Given the description of an element on the screen output the (x, y) to click on. 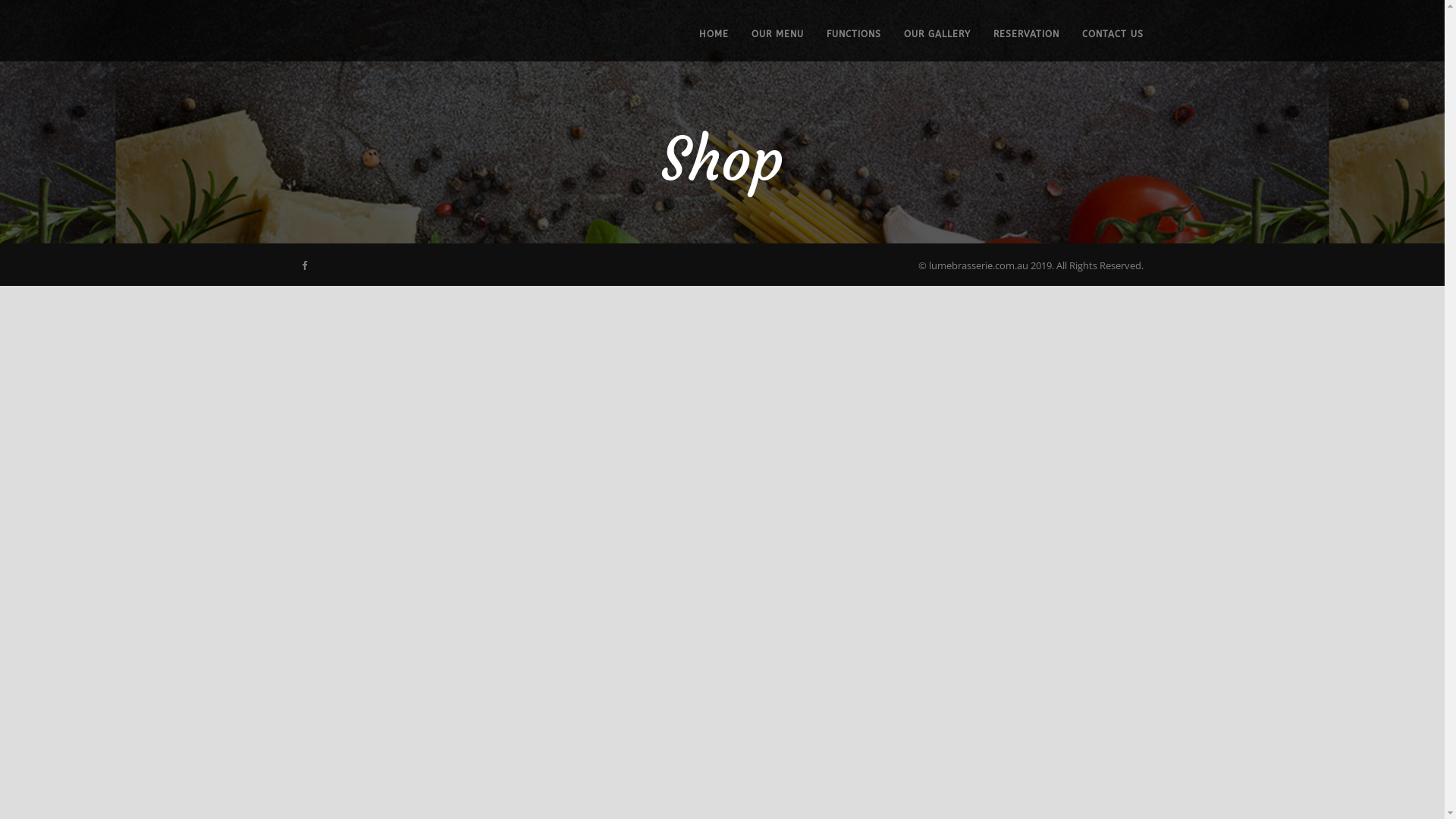
OUR MENU Element type: text (765, 43)
HOME Element type: text (713, 43)
OUR GALLERY Element type: text (925, 43)
FUNCTIONS Element type: text (842, 43)
RESERVATION Element type: text (1014, 43)
CONTACT US Element type: text (1100, 43)
